Given the description of an element on the screen output the (x, y) to click on. 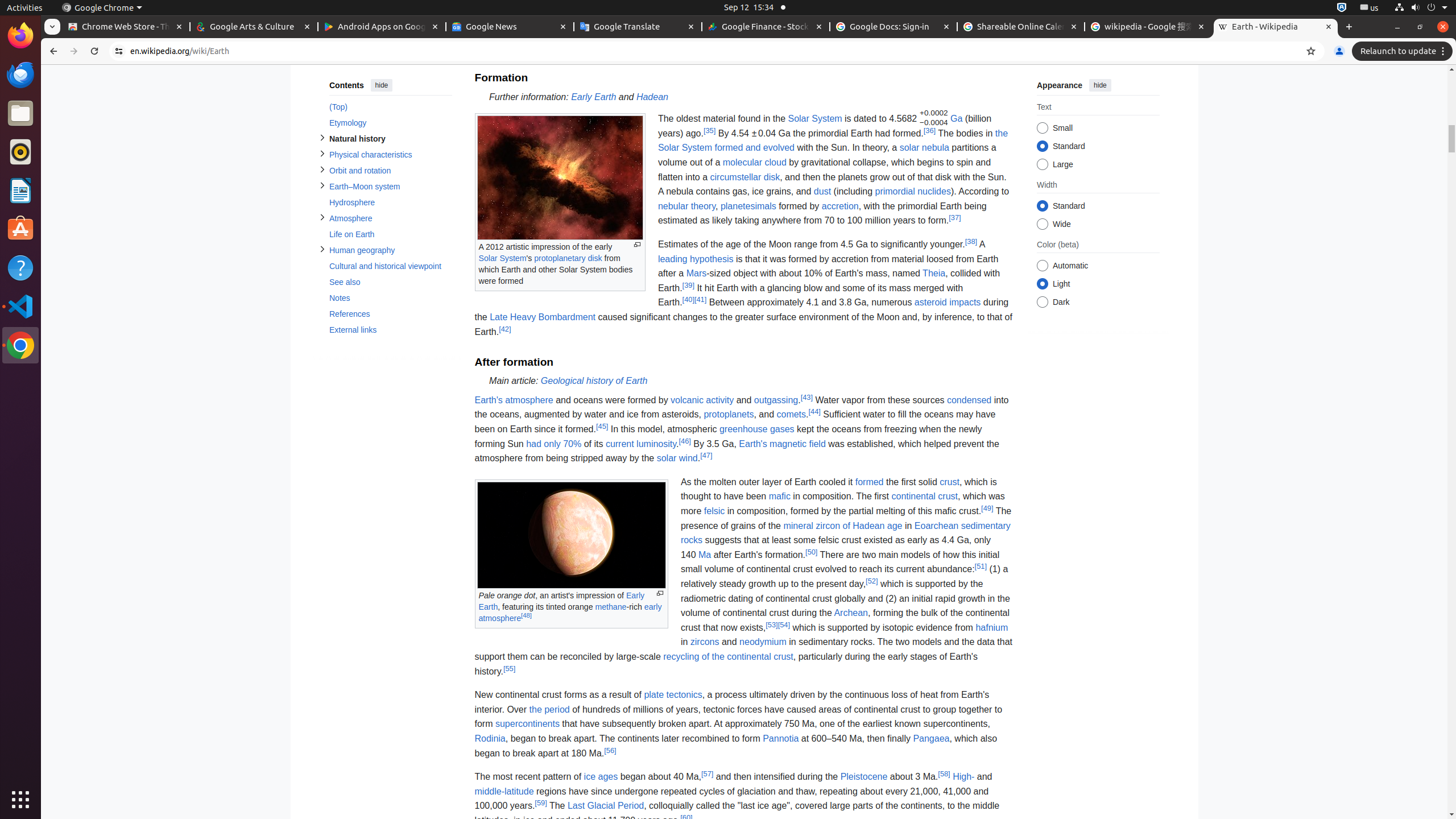
Human geography Element type: link (390, 250)
[52] Element type: link (871, 580)
Back Element type: push-button (51, 50)
solar wind Element type: link (676, 458)
:1.21/StatusNotifierItem Element type: menu (1369, 7)
